Given the description of an element on the screen output the (x, y) to click on. 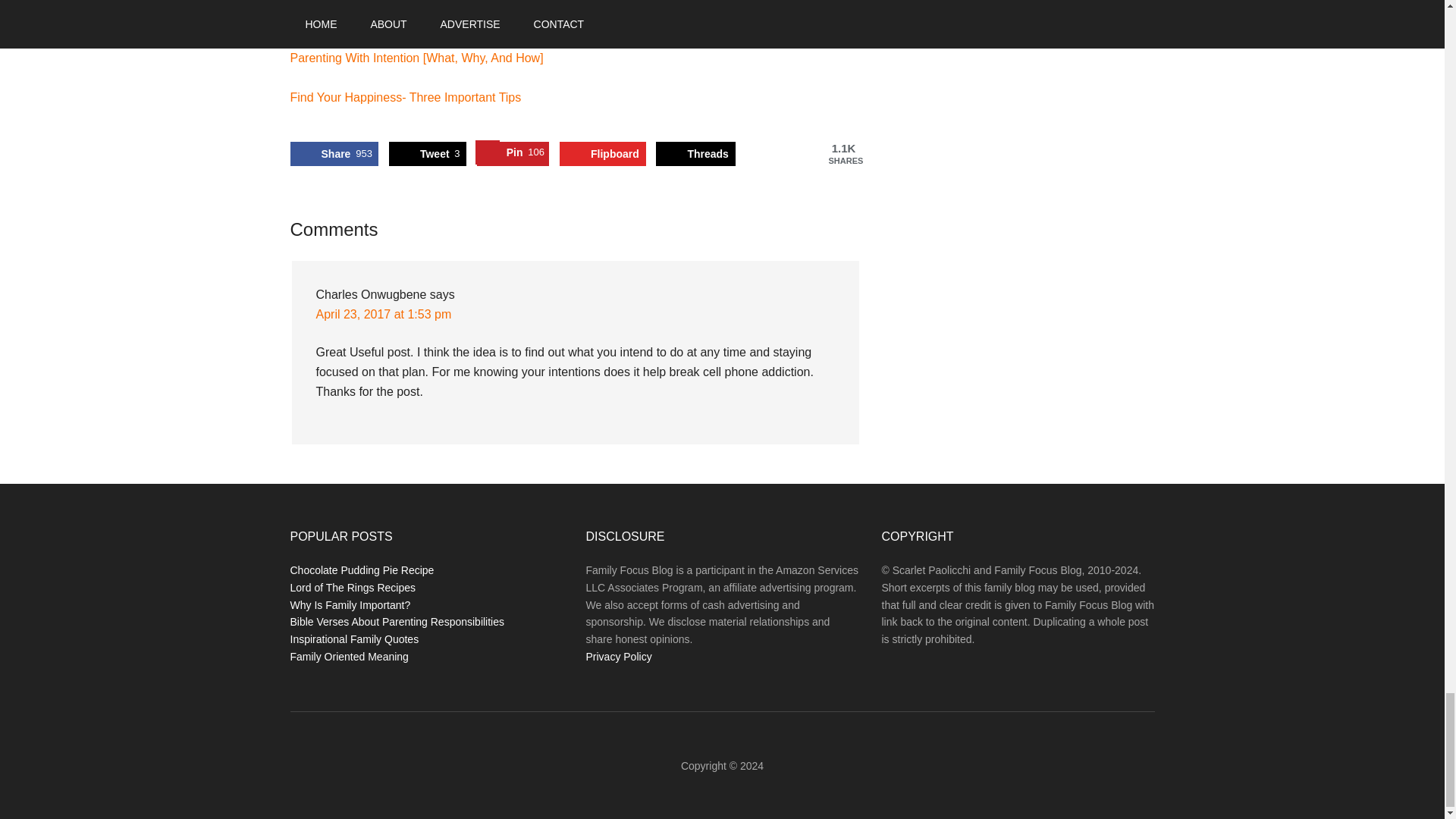
Save to Pinterest (513, 153)
Share on Facebook (333, 153)
Share on Flipboard (602, 153)
Share on Threads (695, 153)
Celebrate National Day of Unplugging With Your Family (438, 18)
Share on X (426, 153)
Find Your Happiness- Three Important Tips (405, 97)
Flipboard (602, 153)
